Given the description of an element on the screen output the (x, y) to click on. 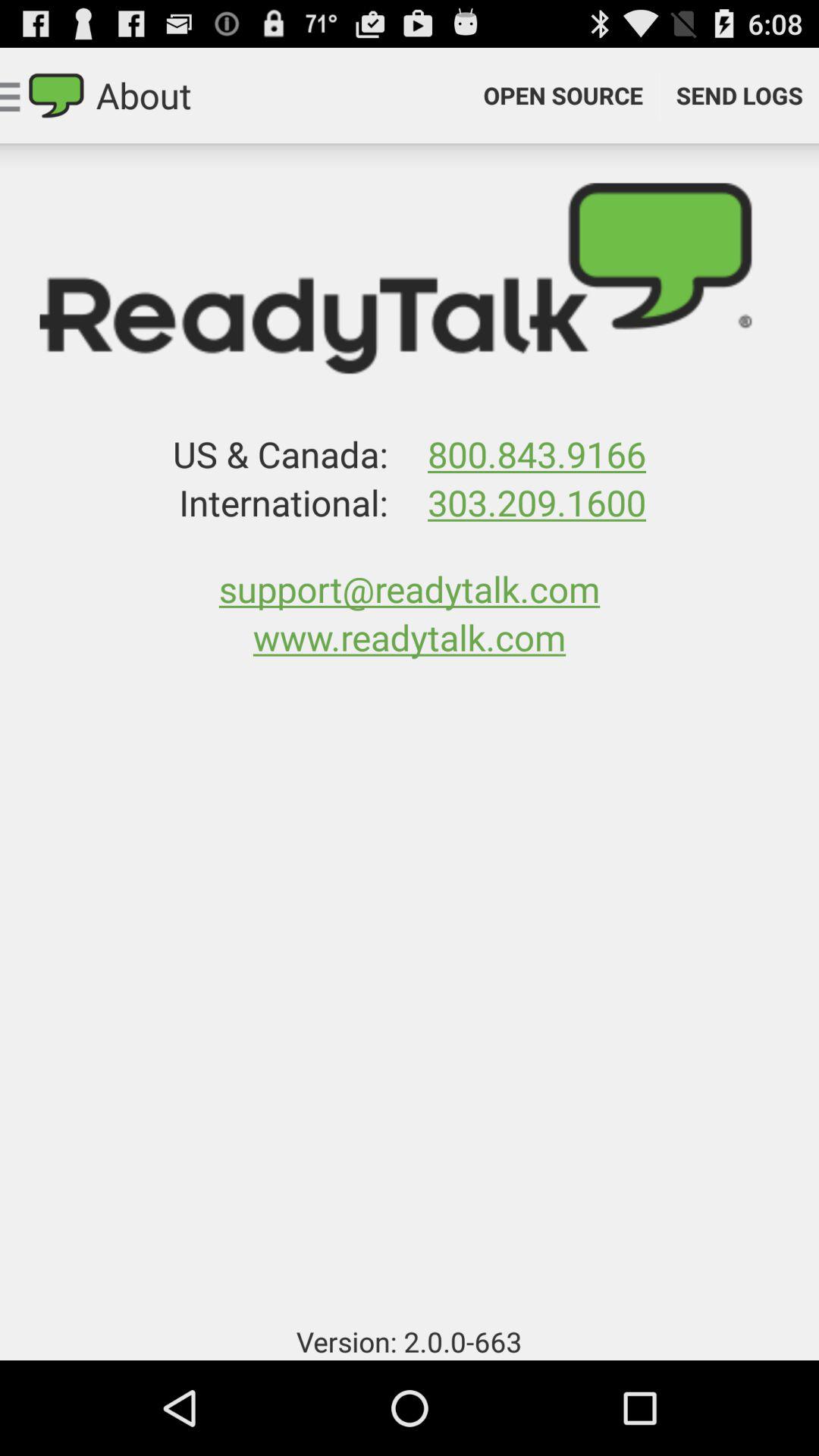
turn off the app above support@readytalk.com icon (536, 502)
